Given the description of an element on the screen output the (x, y) to click on. 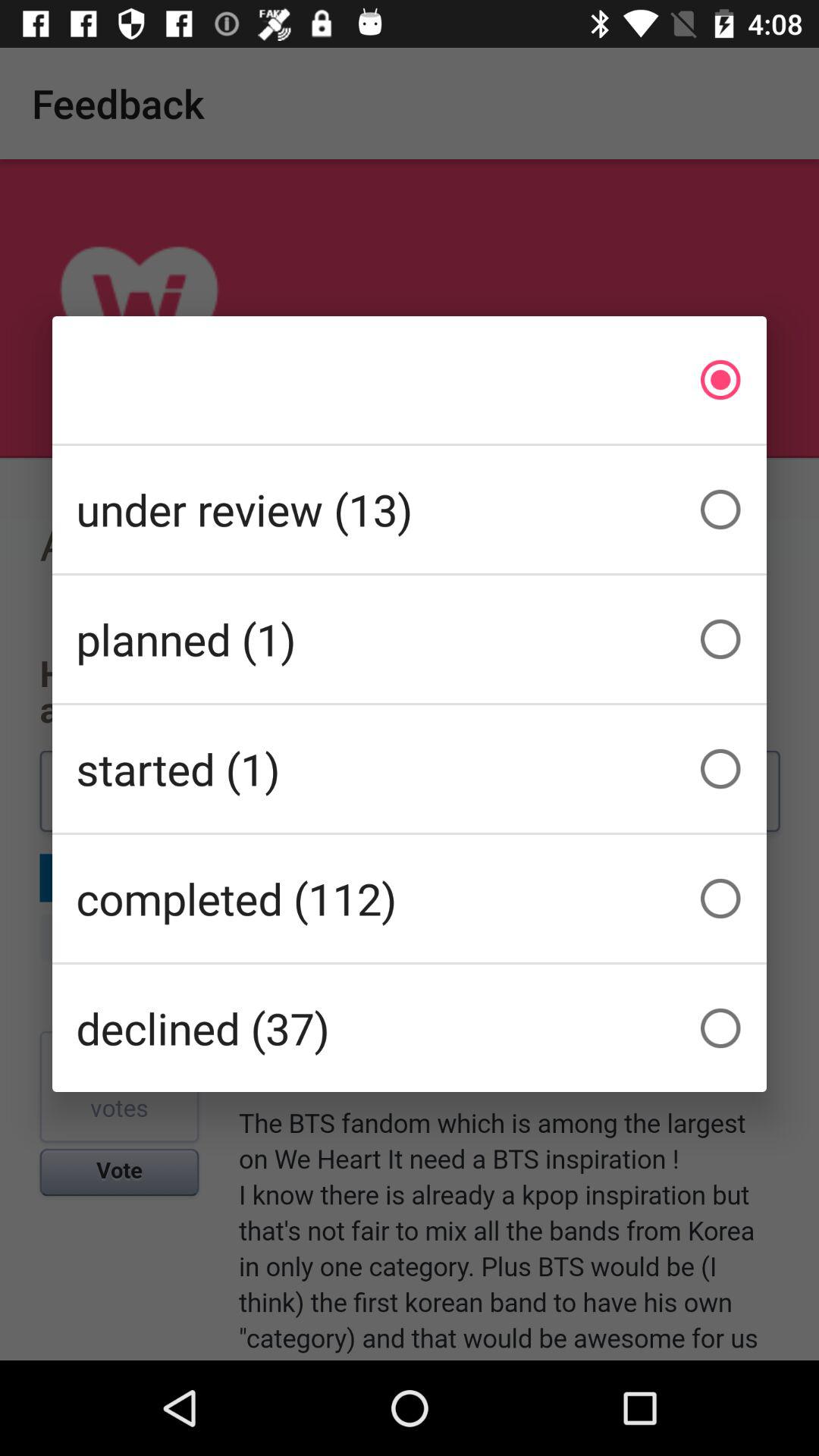
flip until planned (1) icon (409, 638)
